Given the description of an element on the screen output the (x, y) to click on. 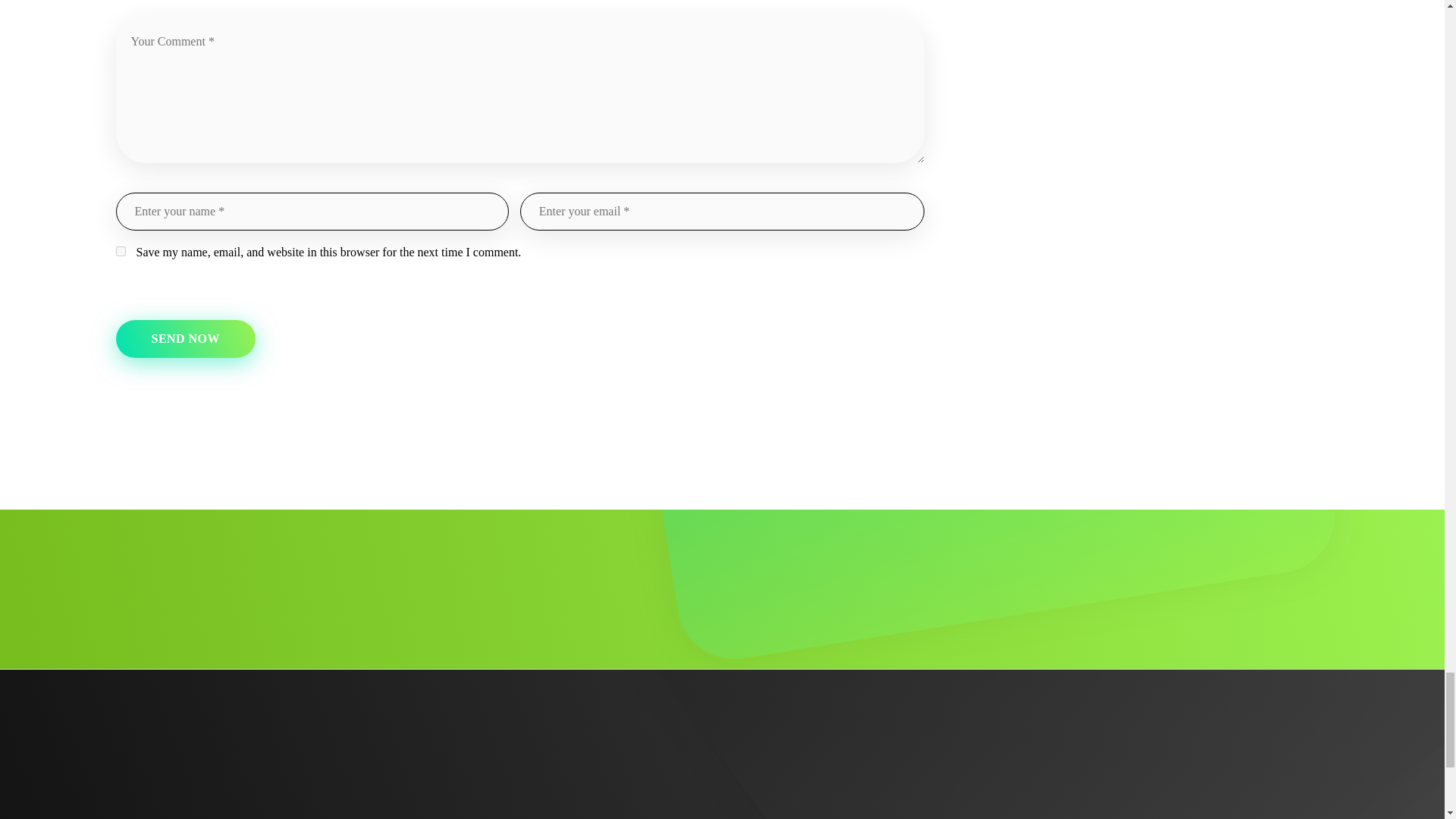
yes (120, 251)
